Given the description of an element on the screen output the (x, y) to click on. 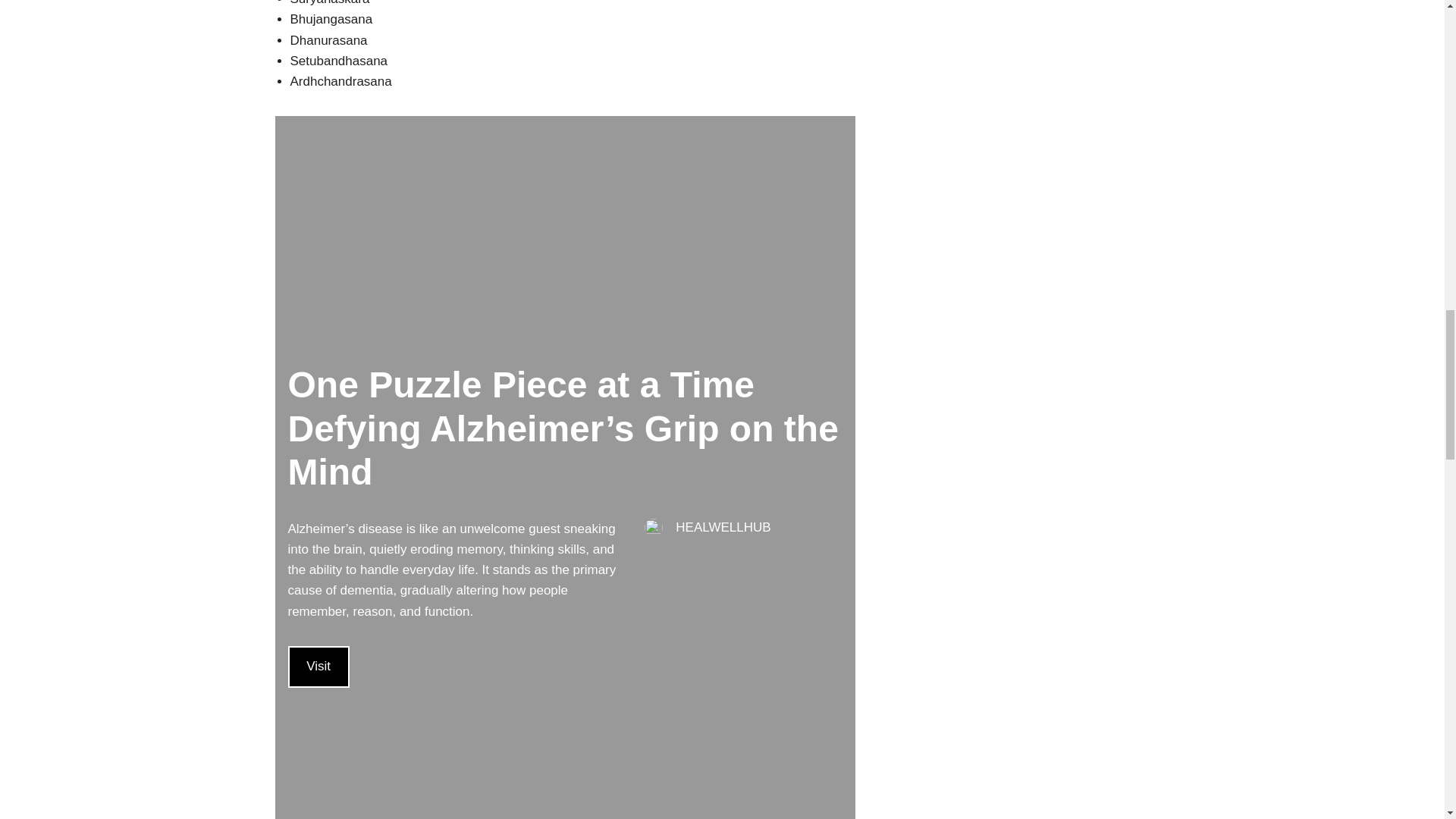
Visit (318, 667)
